Given the description of an element on the screen output the (x, y) to click on. 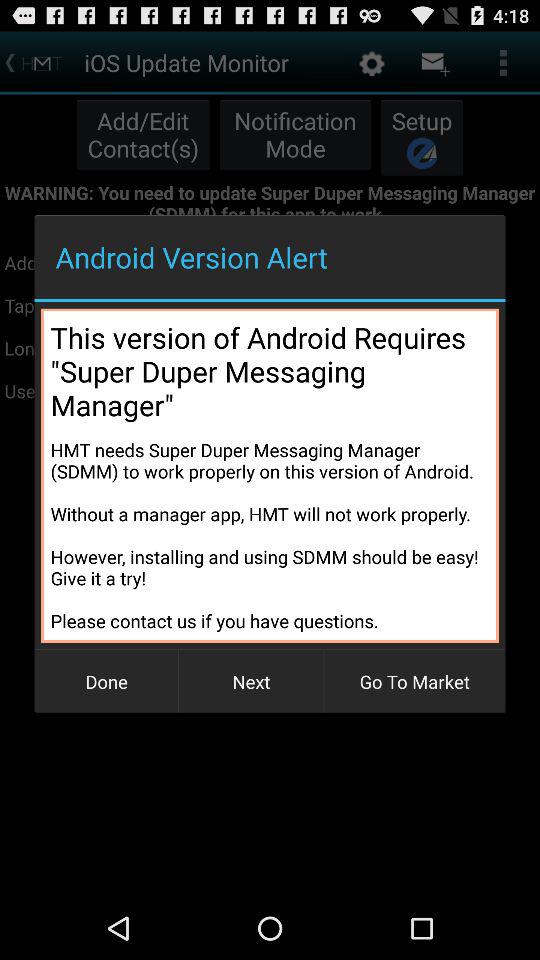
launch icon below the hmt needs super (414, 681)
